Given the description of an element on the screen output the (x, y) to click on. 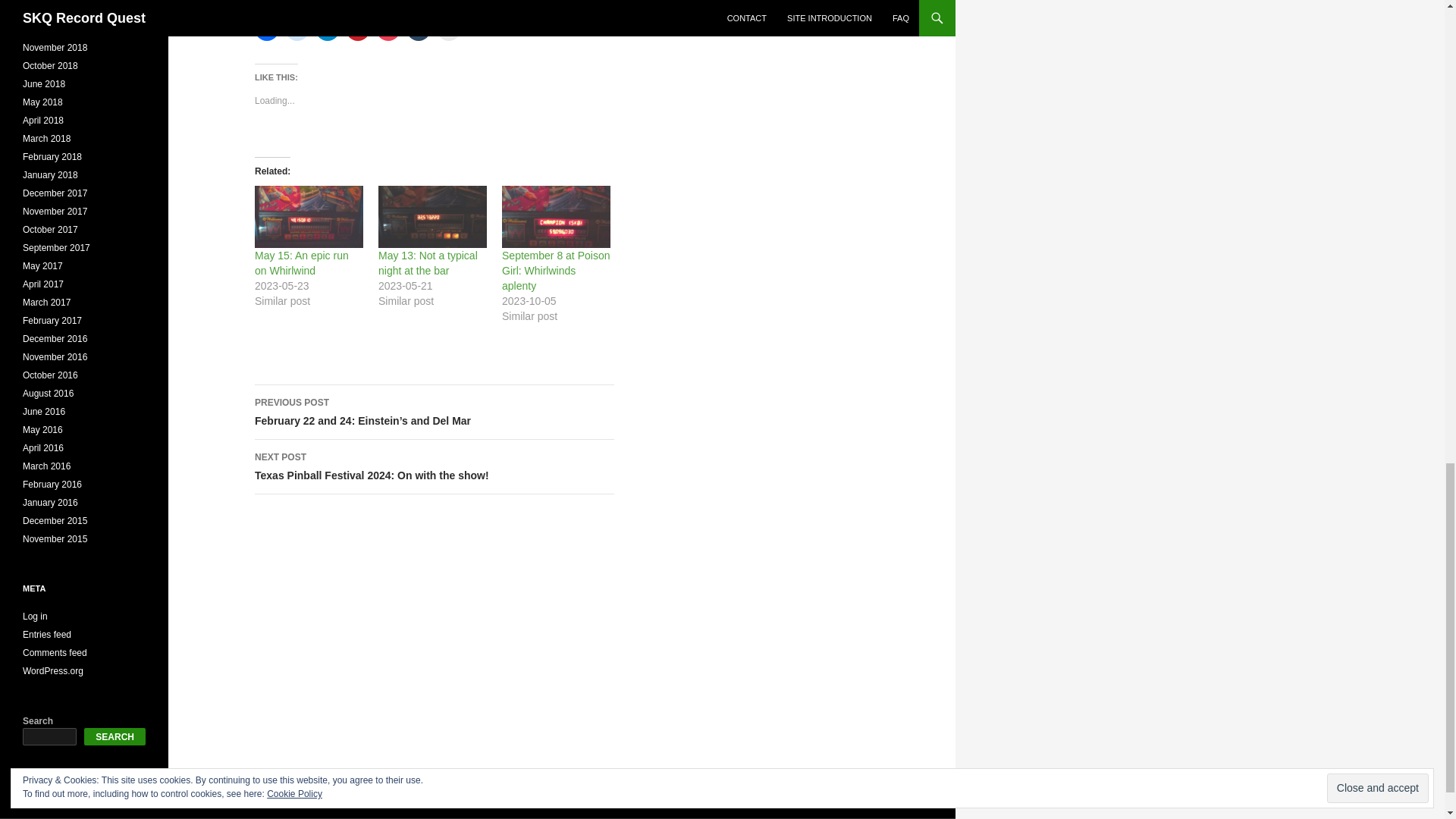
Click to email a link to a friend (448, 28)
May 15: An epic run on Whirlwind (301, 262)
May 15: An epic run on Whirlwind (301, 262)
May 15: An epic run on Whirlwind (434, 466)
Click to share on Tumblr (308, 216)
September 8 at Poison Girl: Whirlwinds aplenty (418, 28)
Click to share on Pocket (556, 216)
Click to share on Reddit (387, 28)
Click to share on Telegram (296, 28)
